Given the description of an element on the screen output the (x, y) to click on. 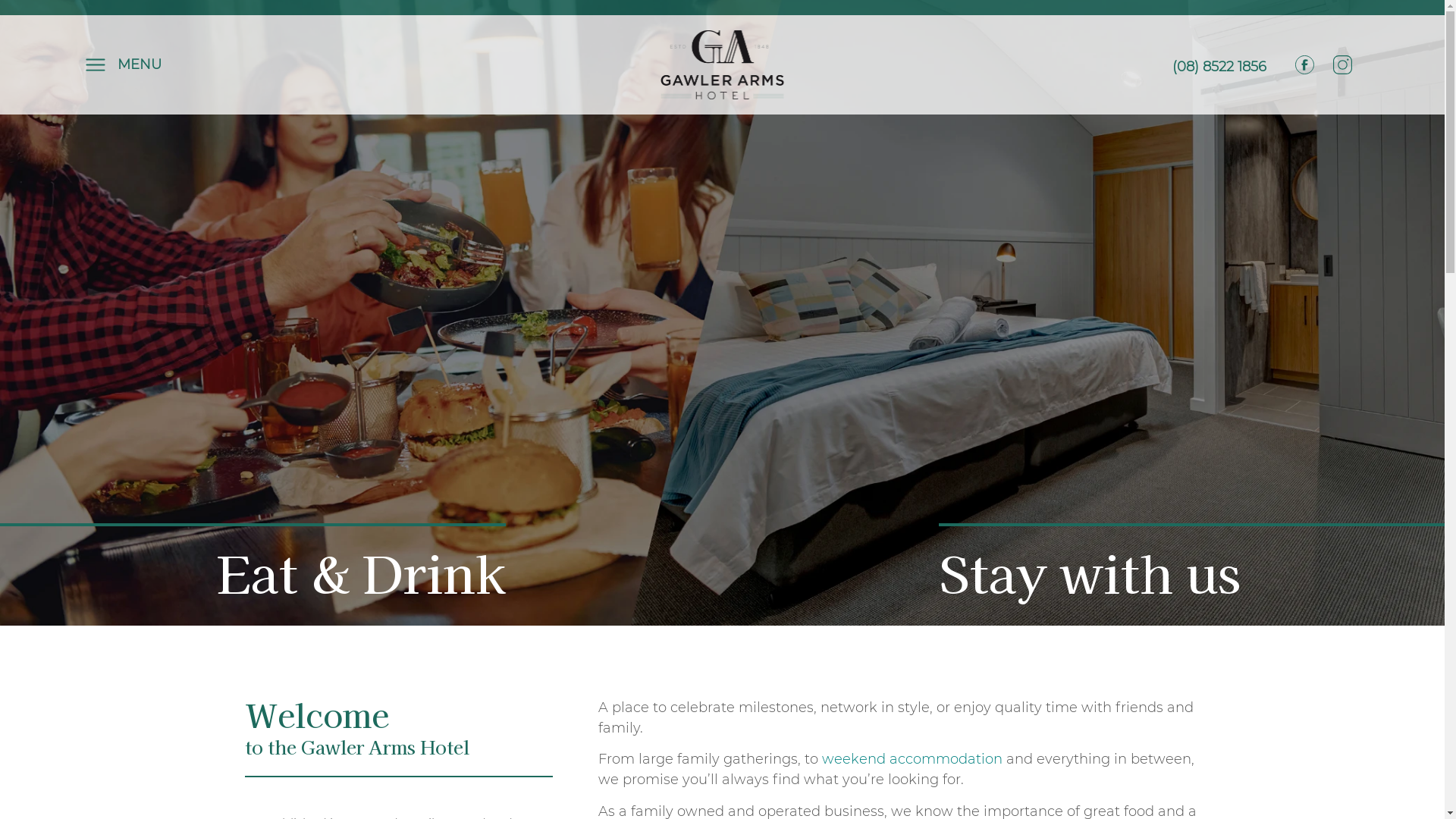
(08) 8522 1856 Element type: text (1219, 66)
MENU Element type: text (237, 64)
weekend accommodation Element type: text (912, 758)
Stay with us Element type: text (1089, 571)
Eat & Drink Element type: text (360, 571)
